Given the description of an element on the screen output the (x, y) to click on. 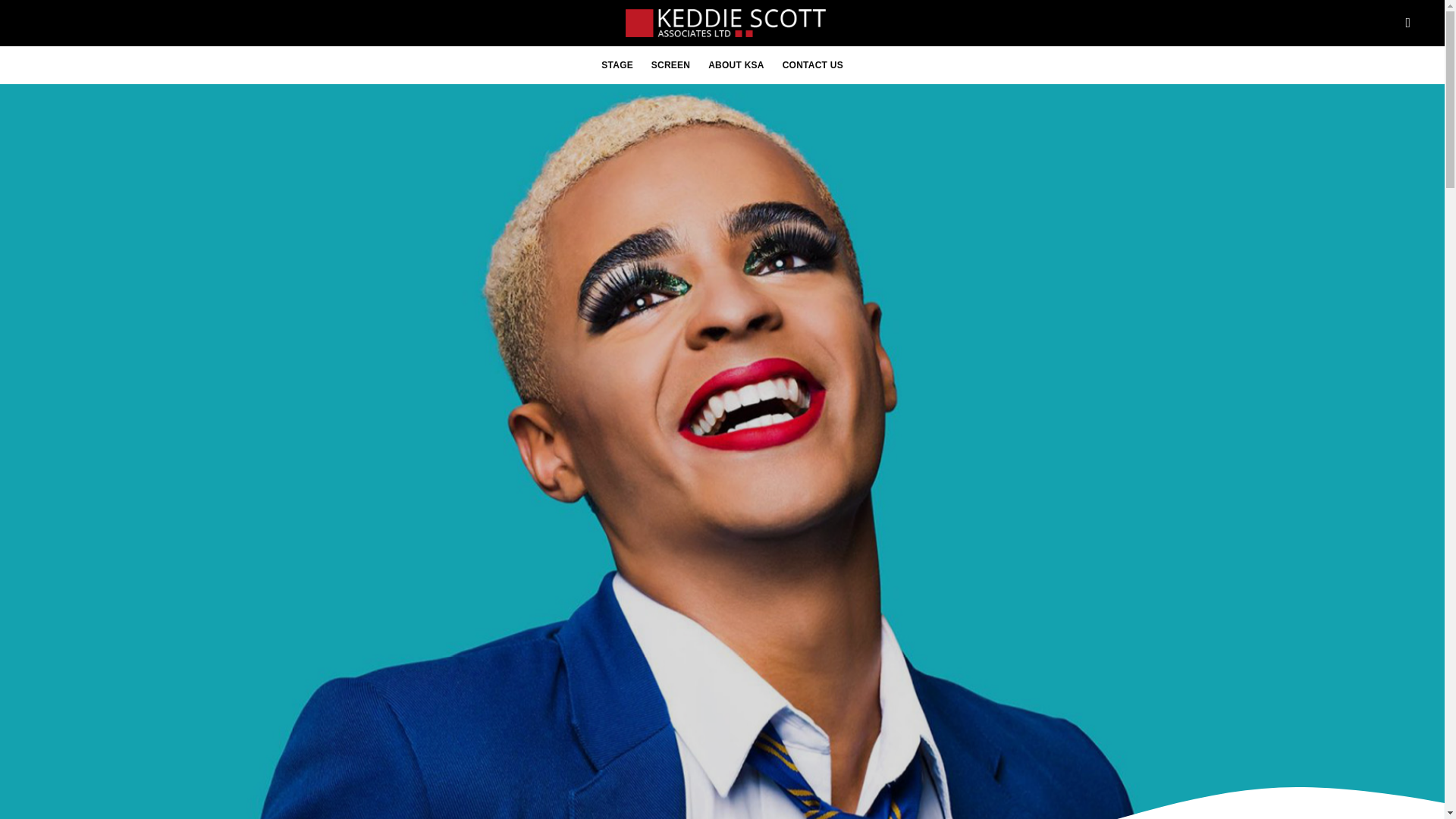
ABOUT KSA (735, 64)
SCREEN (670, 64)
CONTACT US (812, 64)
STAGE (617, 64)
